Given the description of an element on the screen output the (x, y) to click on. 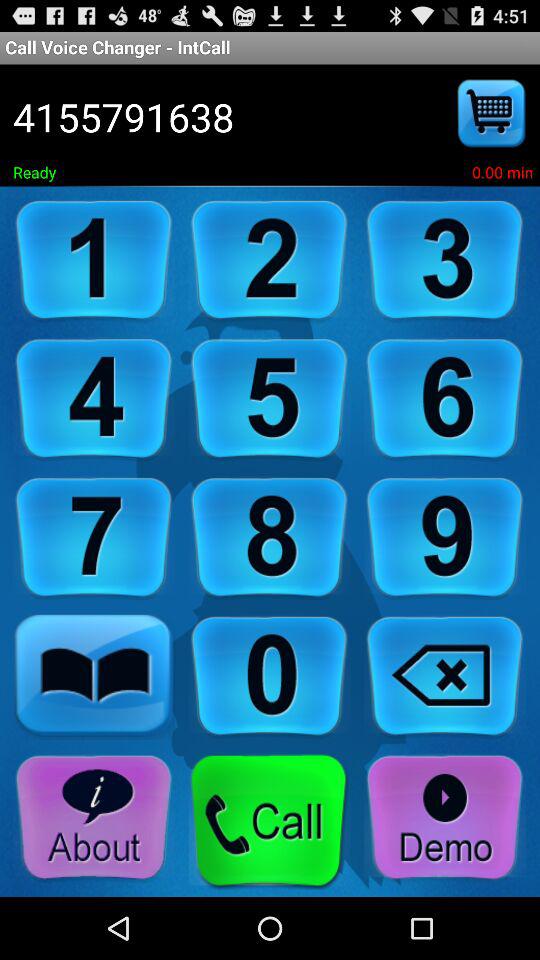
go to contacts (94, 676)
